Given the description of an element on the screen output the (x, y) to click on. 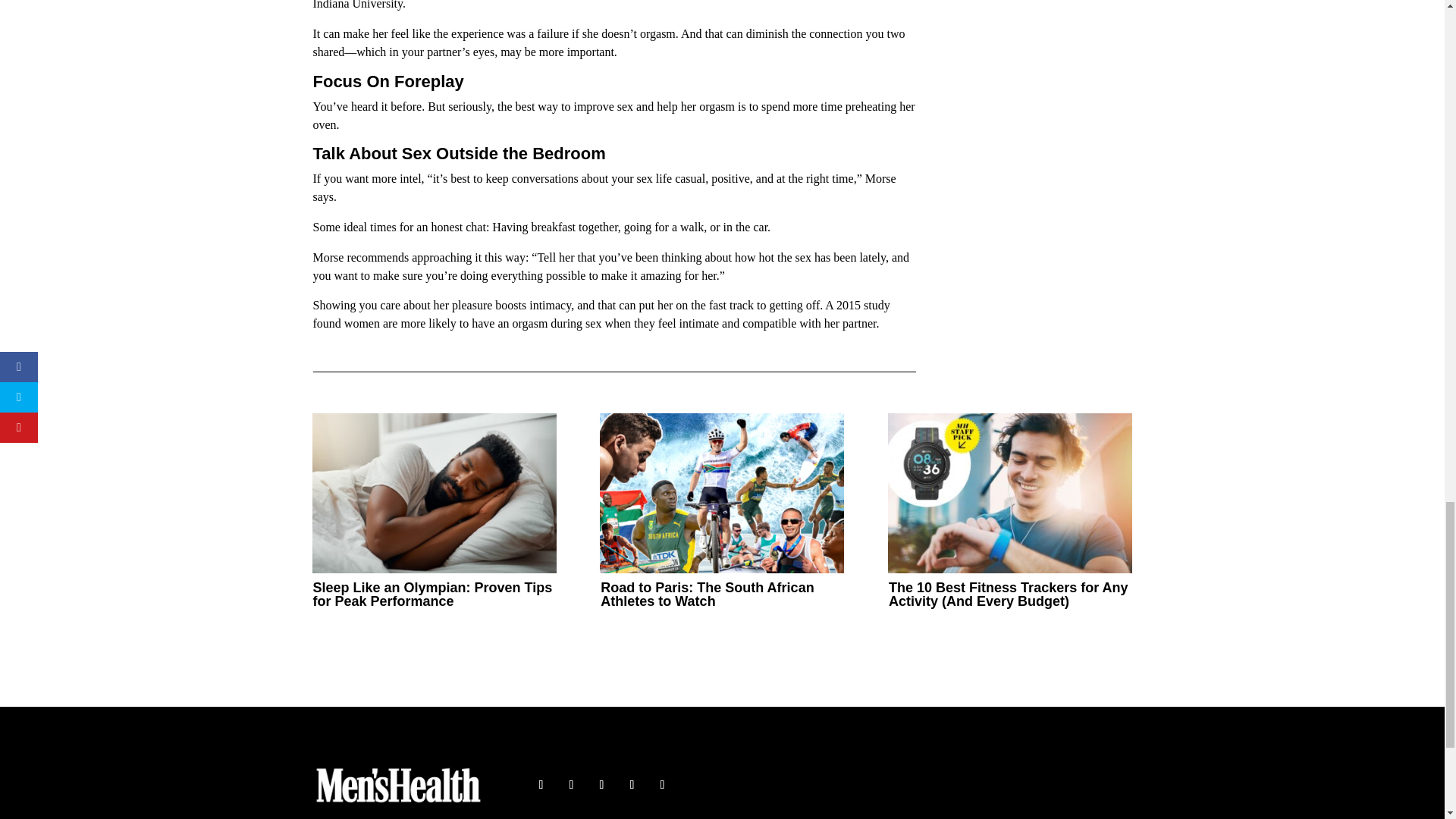
Follow on X (571, 784)
Follow on TikTok (661, 784)
Follow on Youtube (631, 784)
Follow on Facebook (540, 784)
Follow on Instagram (600, 784)
